Given the description of an element on the screen output the (x, y) to click on. 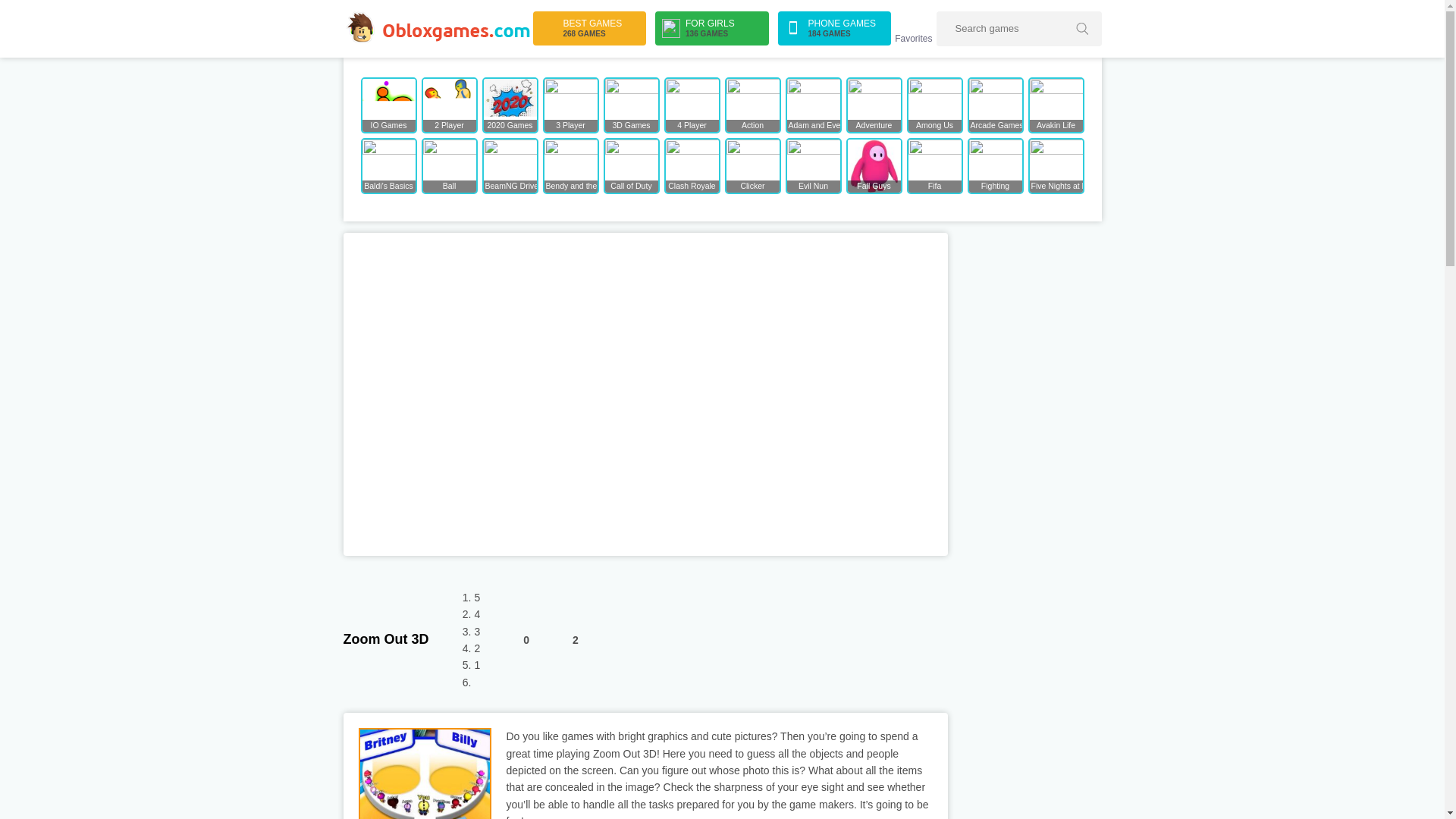
4 Player (691, 104)
Call of Duty (631, 166)
4 Player (691, 104)
Adam and Eve (813, 104)
Bendy and the Ink Machine (711, 28)
3D Games (570, 166)
3 Player (589, 28)
2020 Games (631, 104)
Avakin Life (570, 104)
2 (509, 104)
Ball (1055, 104)
Arcade Games (561, 639)
3 Player (449, 166)
